Given the description of an element on the screen output the (x, y) to click on. 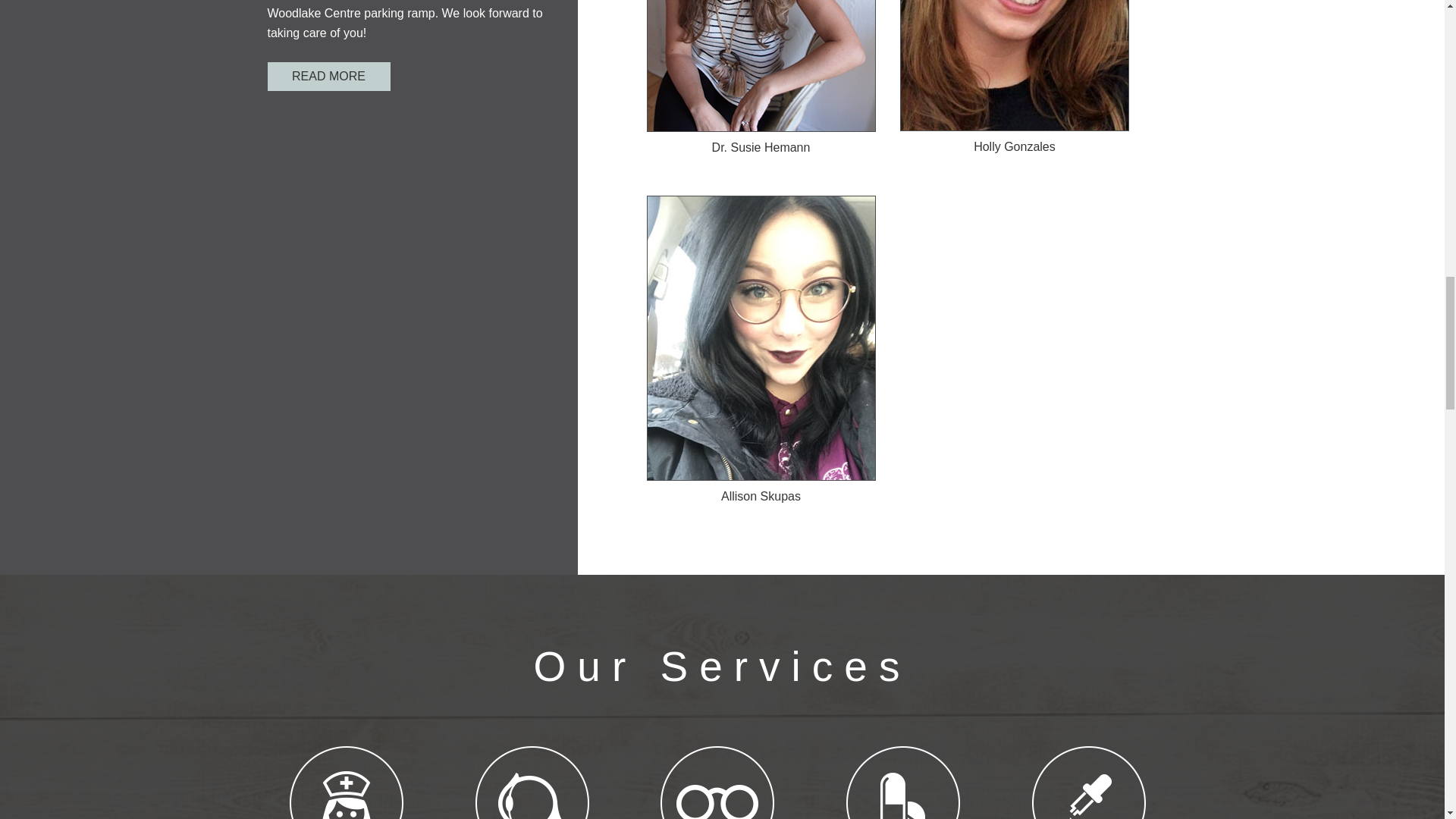
Susie Hemann (760, 65)
Holly Gonzales (1014, 65)
